Given the description of an element on the screen output the (x, y) to click on. 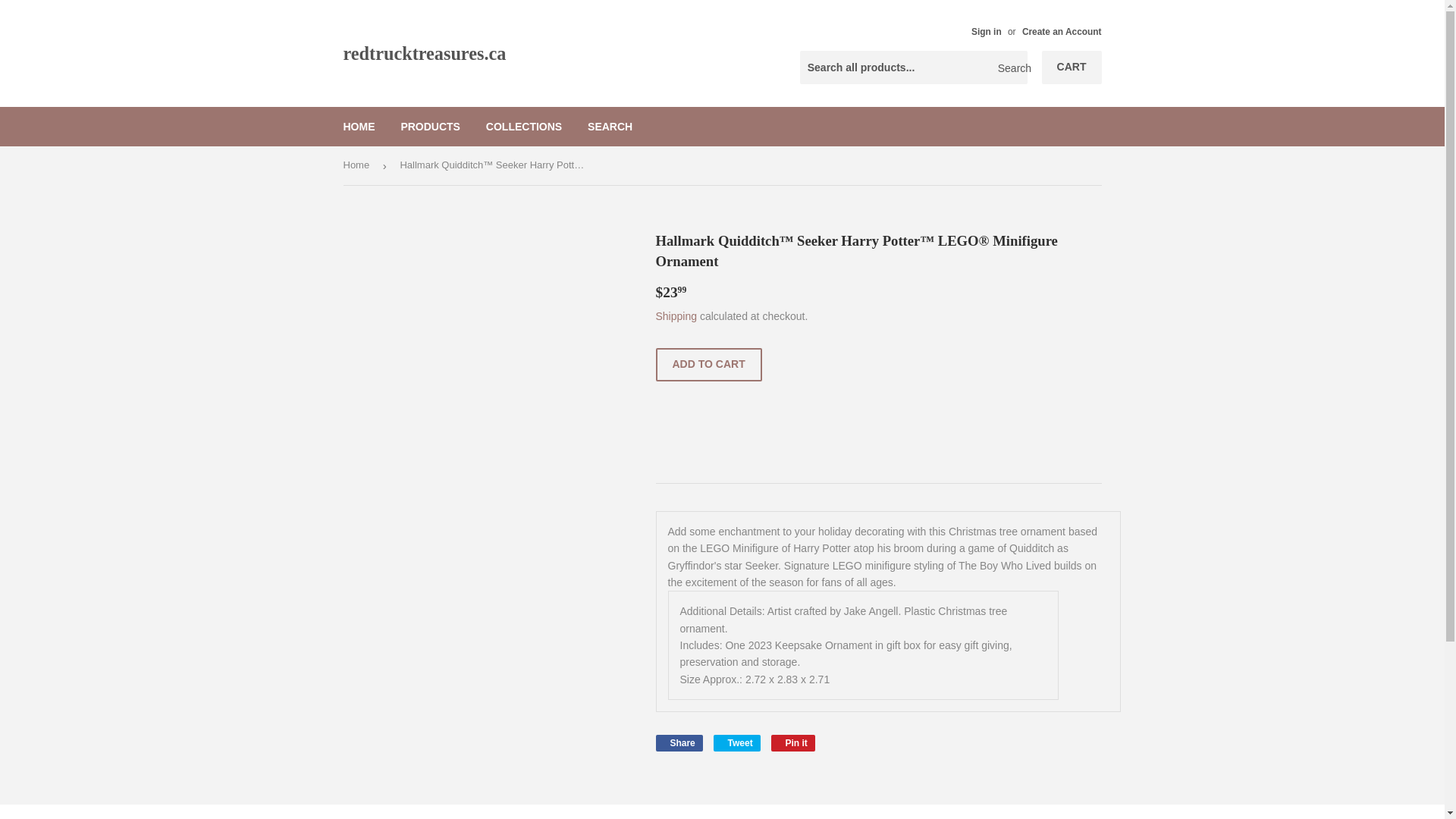
PRODUCTS (793, 742)
HOME (429, 126)
SEARCH (359, 126)
CART (609, 126)
COLLECTIONS (678, 742)
Share on Facebook (1072, 67)
Sign in (523, 126)
